Given the description of an element on the screen output the (x, y) to click on. 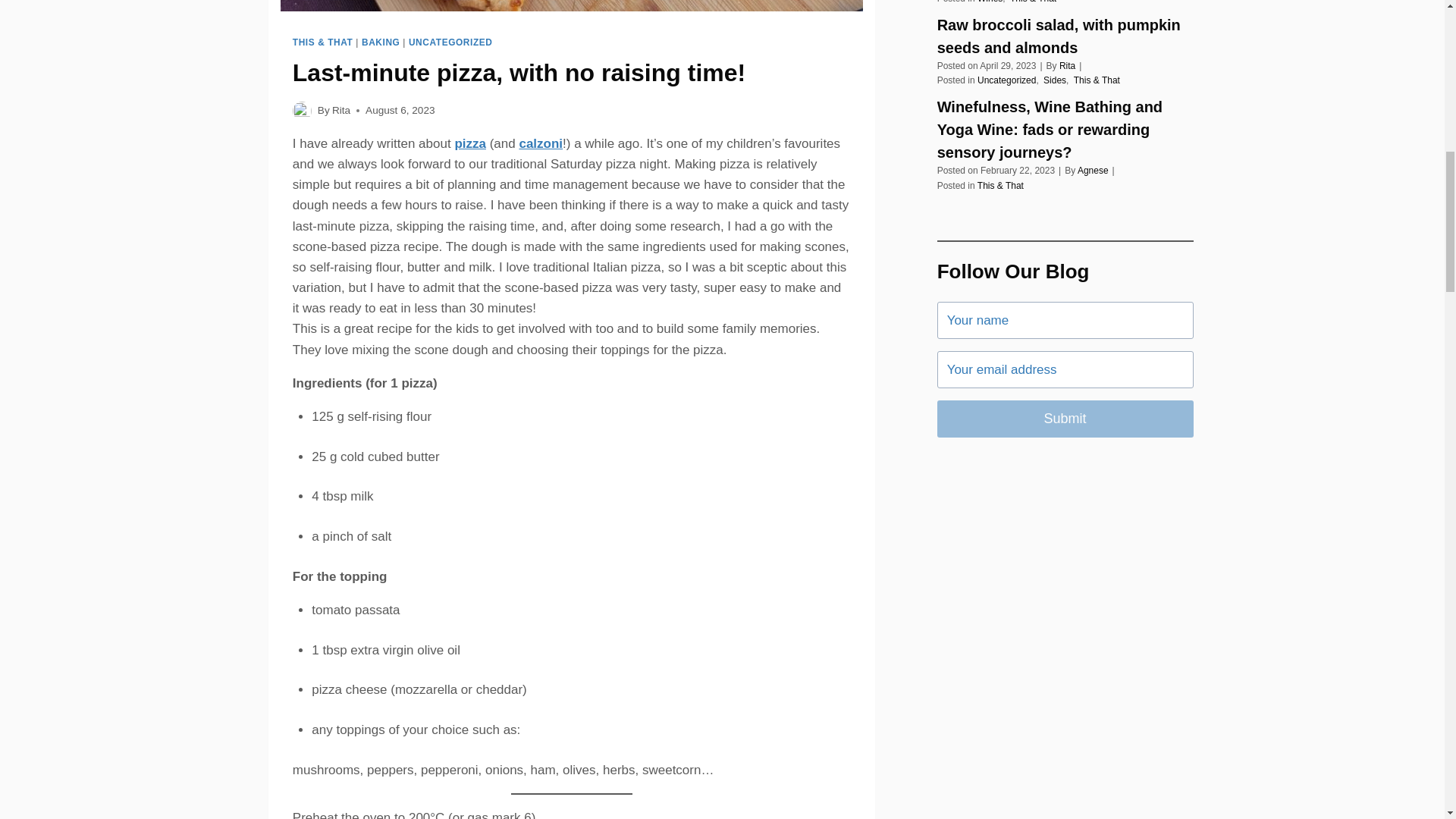
calzoni (540, 143)
Uncategorized (1005, 80)
pizza (470, 143)
Agnese (1092, 170)
Sides (1054, 80)
Rita (340, 110)
Wines (989, 2)
BAKING (379, 41)
Rita (1067, 65)
UNCATEGORIZED (451, 41)
Last-minute pizza, with no raising time! (518, 72)
Raw broccoli salad, with pumpkin seeds and almonds (1065, 35)
